Given the description of an element on the screen output the (x, y) to click on. 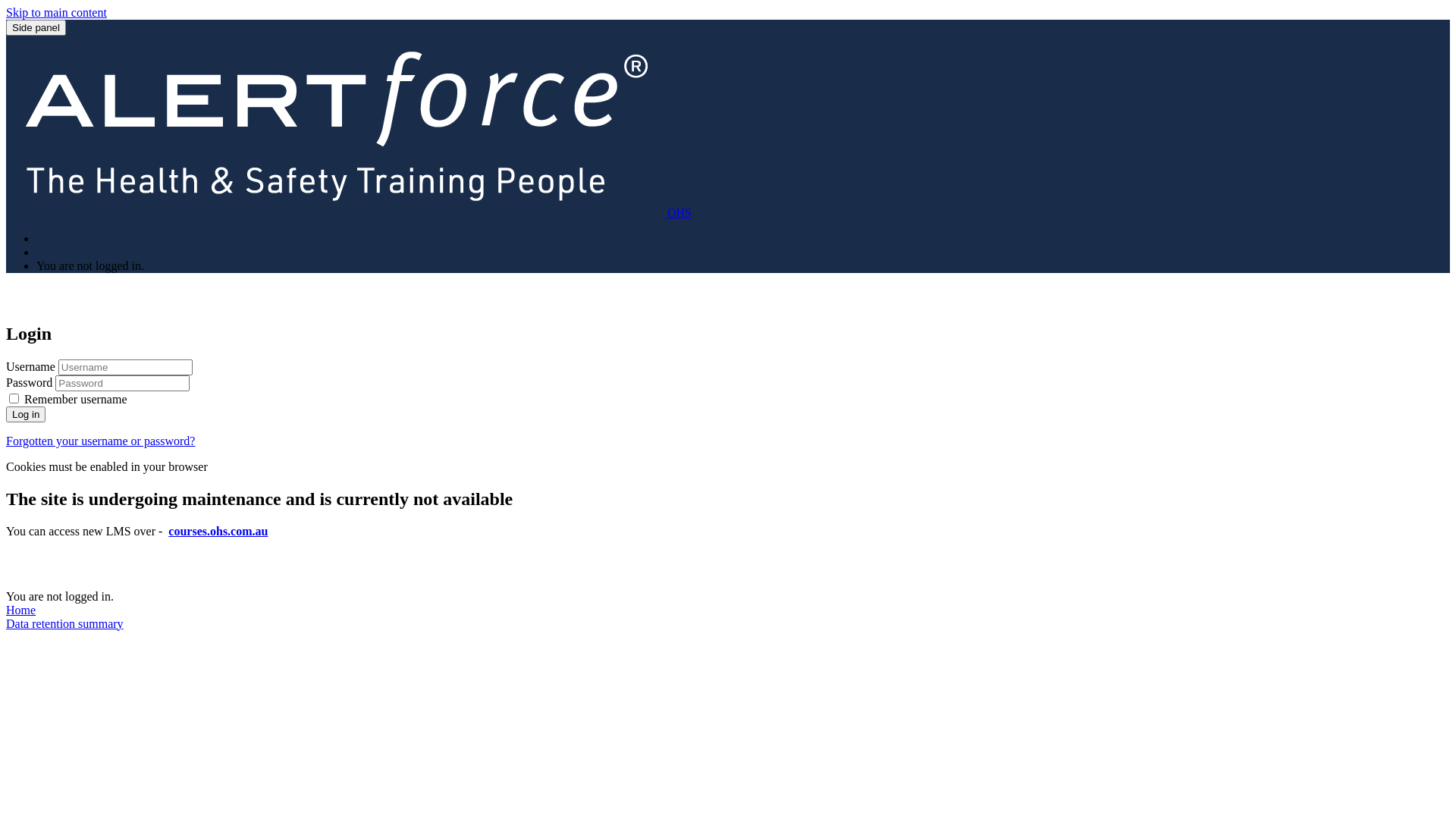
Skip to main content Element type: text (56, 12)
Side panel Element type: text (35, 27)
Forgotten your username or password? Element type: text (100, 440)
OHS Element type: text (348, 212)
courses.ohs.com.au Element type: text (217, 530)
Data retention summary Element type: text (64, 623)
Log in Element type: text (25, 414)
Home Element type: text (20, 609)
